Given the description of an element on the screen output the (x, y) to click on. 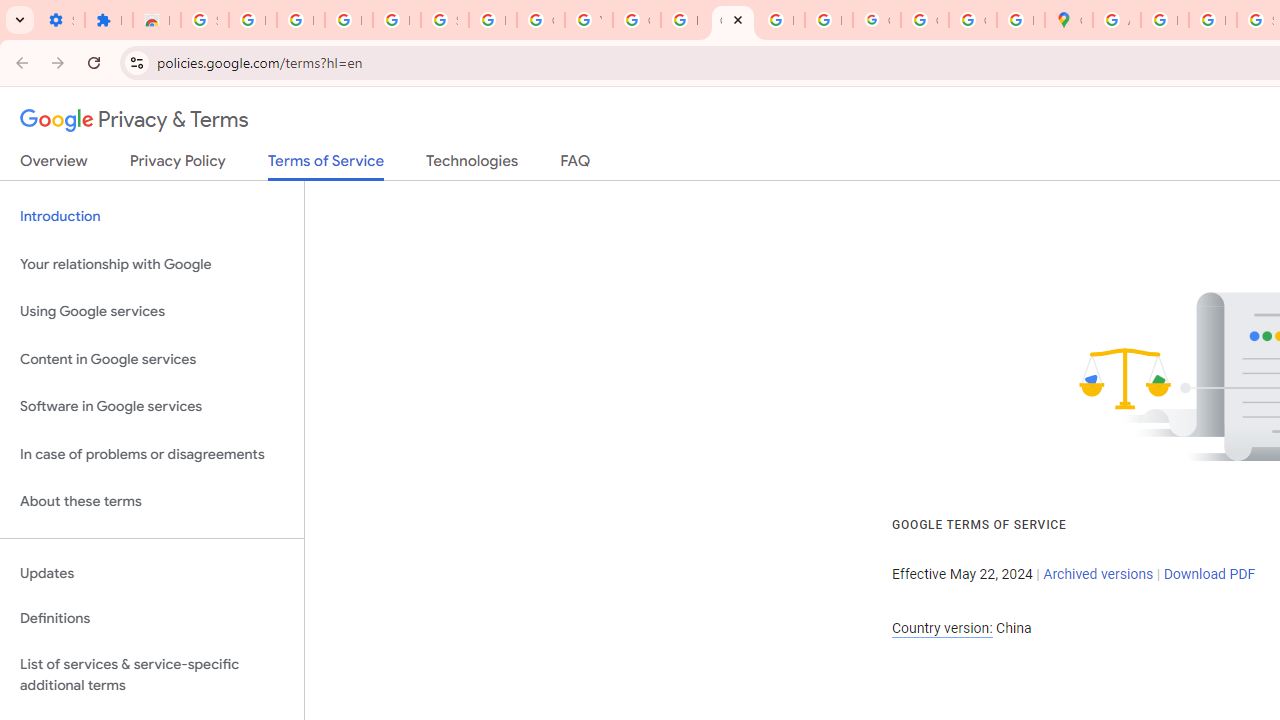
YouTube (588, 20)
About these terms (152, 502)
Archived versions (1098, 574)
Settings - On startup (60, 20)
Google Account (540, 20)
Using Google services (152, 312)
List of services & service-specific additional terms (152, 674)
